Given the description of an element on the screen output the (x, y) to click on. 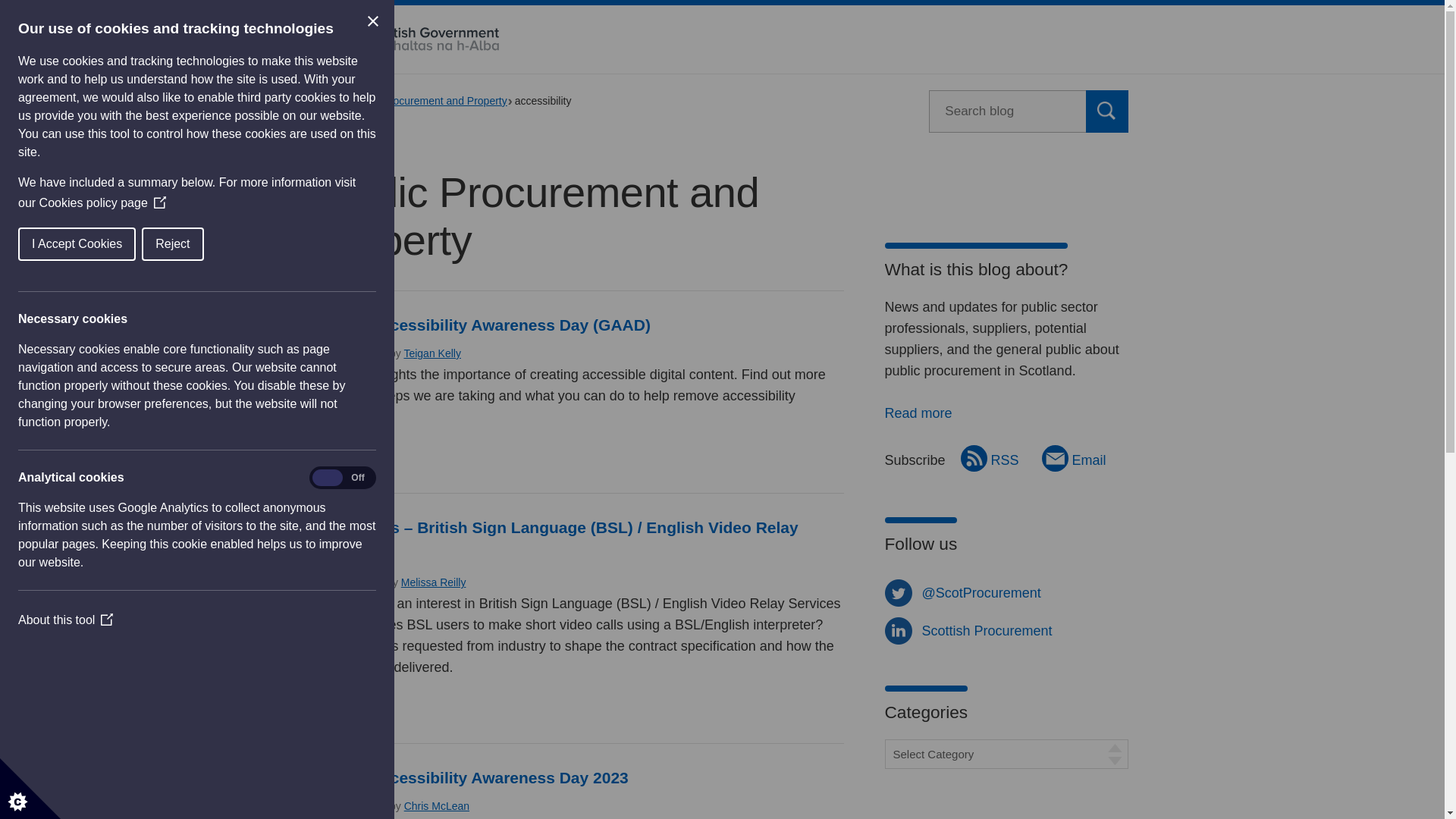
Read more (350, 709)
RSS (989, 458)
Public Procurement and Property (432, 101)
Posts by Melissa Reilly (433, 582)
Chris McLean (436, 806)
Posts by Teigan Kelly (432, 353)
Reject (56, 244)
Global Accessibility Awareness Day 2023 (472, 777)
Read more (350, 459)
Melissa Reilly (433, 582)
Blogs (333, 101)
Email (1074, 458)
Posts by Chris McLean (436, 806)
Read more (917, 412)
Teigan Kelly (432, 353)
